Given the description of an element on the screen output the (x, y) to click on. 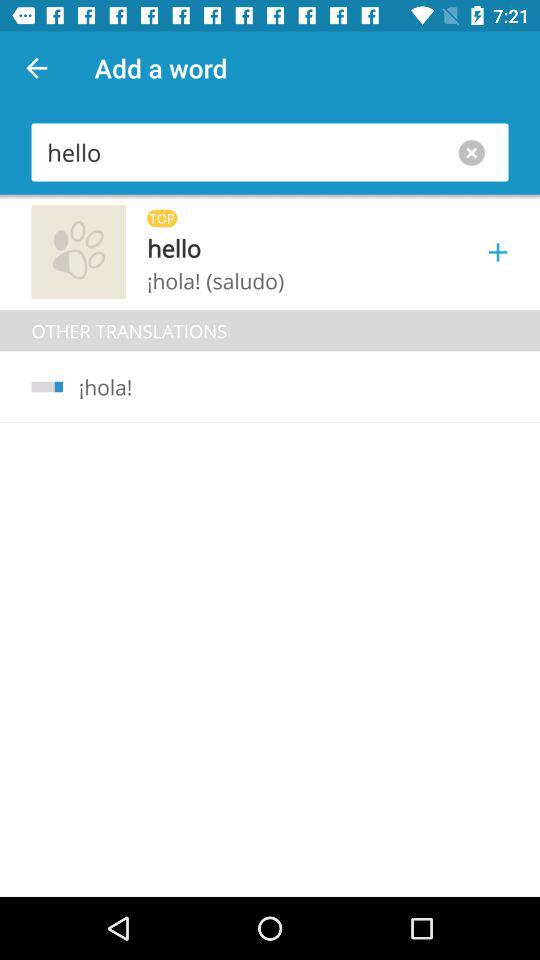
close entered (476, 152)
